Given the description of an element on the screen output the (x, y) to click on. 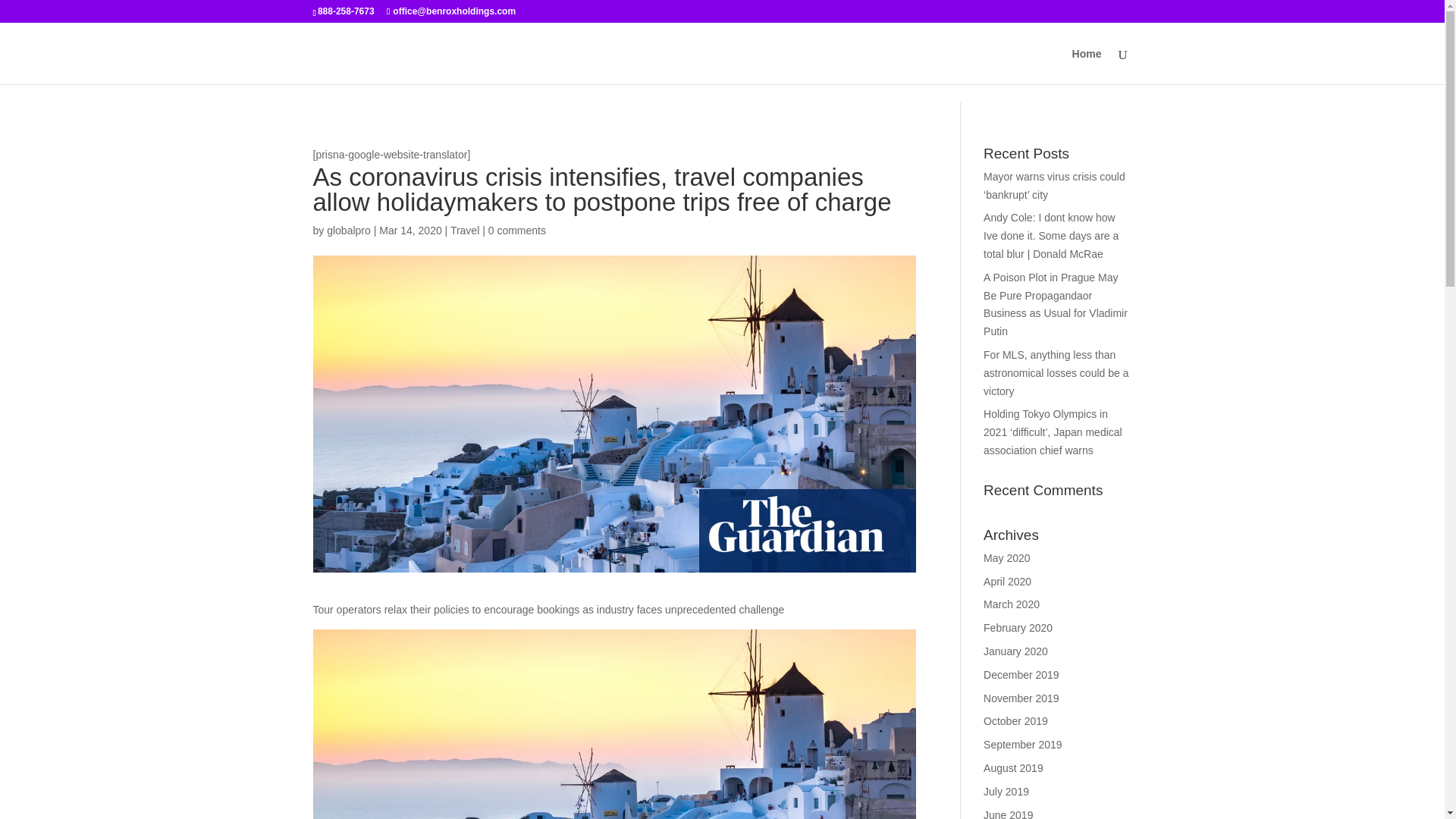
January 2020 (1016, 651)
February 2020 (1018, 627)
December 2019 (1021, 674)
November 2019 (1021, 698)
April 2020 (1007, 581)
Travel (464, 230)
March 2020 (1011, 604)
0 comments (516, 230)
Posts by globalpro (348, 230)
July 2019 (1006, 791)
September 2019 (1023, 744)
globalpro (348, 230)
October 2019 (1016, 720)
May 2020 (1006, 558)
